Given the description of an element on the screen output the (x, y) to click on. 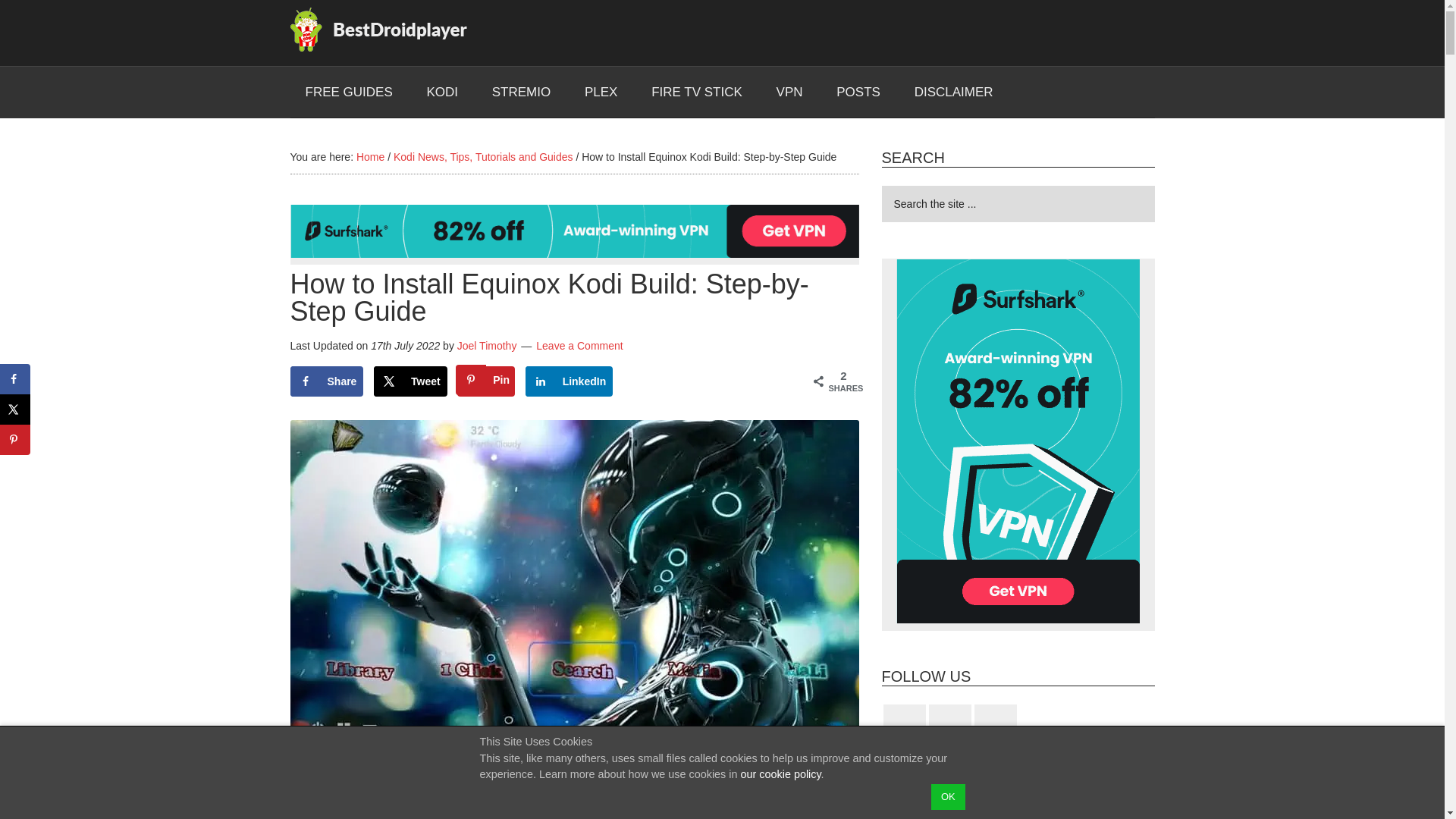
Share on X (410, 381)
Share on Facebook (325, 381)
FREE GUIDES (348, 91)
Save to Pinterest (486, 381)
KODI (441, 91)
Share on LinkedIn (568, 381)
